Given the description of an element on the screen output the (x, y) to click on. 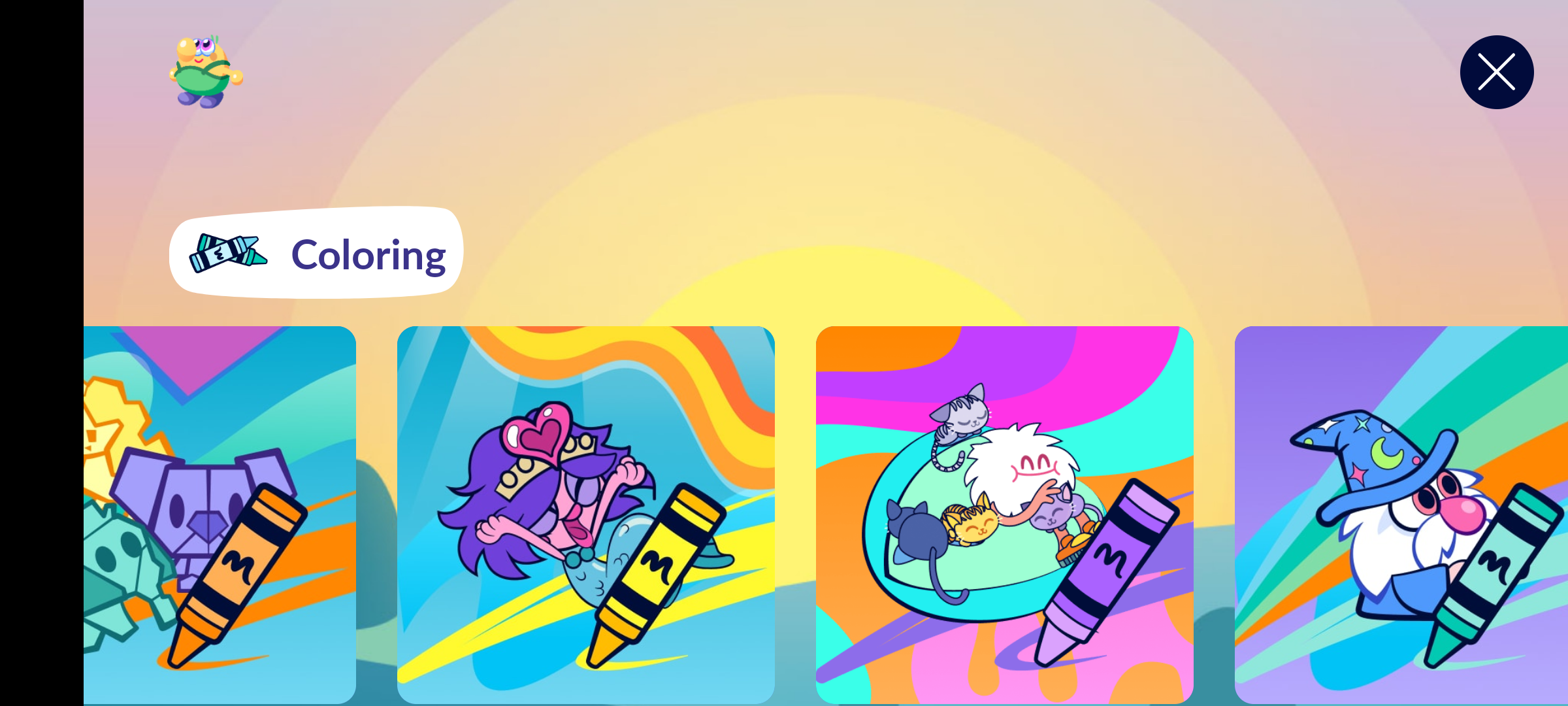
Profile icon (205, 71)
Featured Content (219, 514)
Featured Content (585, 514)
Featured Content (1004, 514)
Featured Content (1401, 514)
